Given the description of an element on the screen output the (x, y) to click on. 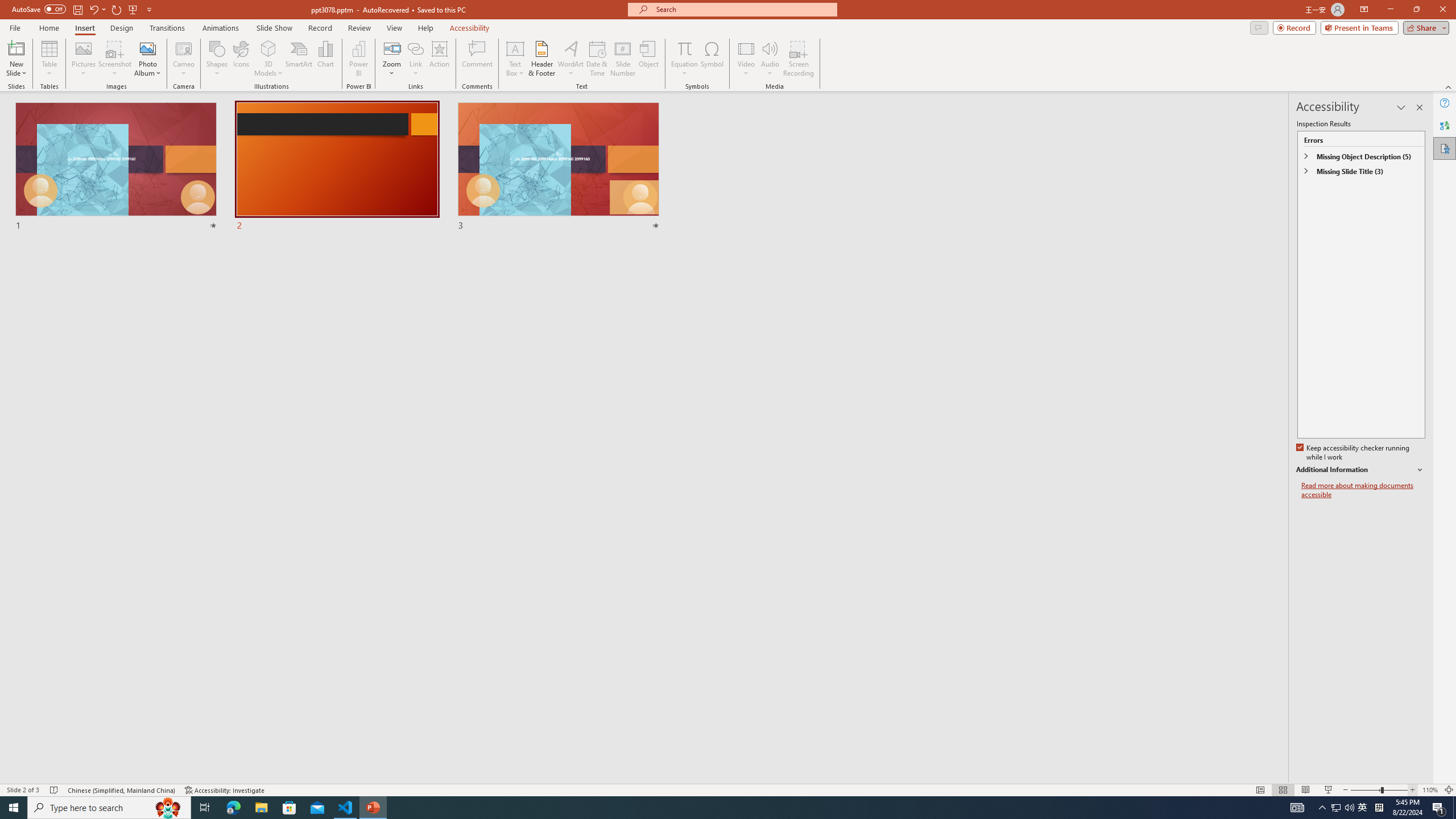
Zoom (391, 58)
Help (1444, 102)
Close pane (1419, 107)
Normal (1260, 790)
Quick Access Toolbar (82, 9)
Design (122, 28)
Close (1442, 9)
Zoom (1379, 790)
Class: MsoCommandBar (728, 789)
Slide Show (1328, 790)
Comment (476, 58)
View (395, 28)
Slide Show (273, 28)
Record (320, 28)
Audio (769, 58)
